Given the description of an element on the screen output the (x, y) to click on. 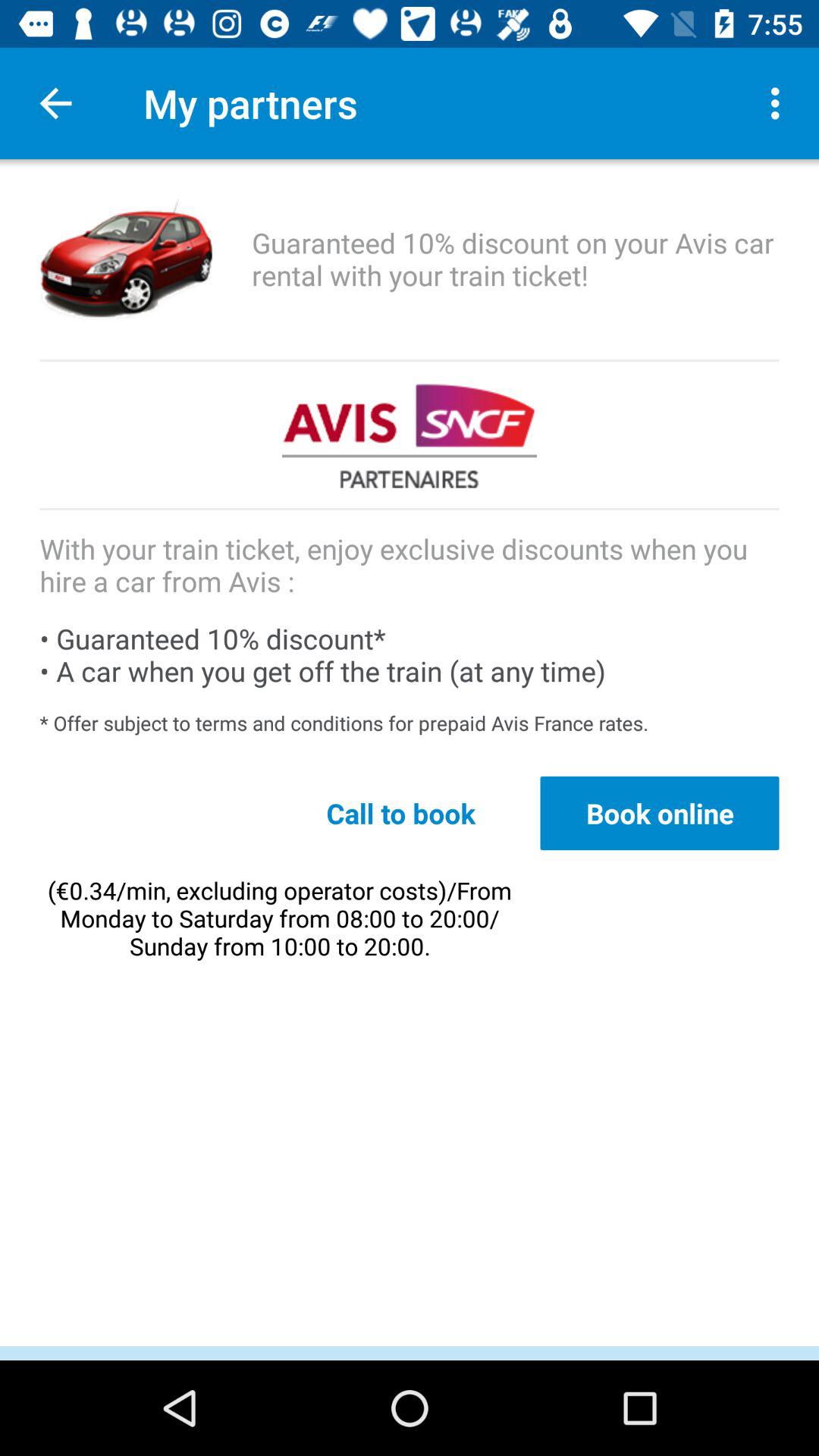
select item below the offer subject to item (400, 813)
